Given the description of an element on the screen output the (x, y) to click on. 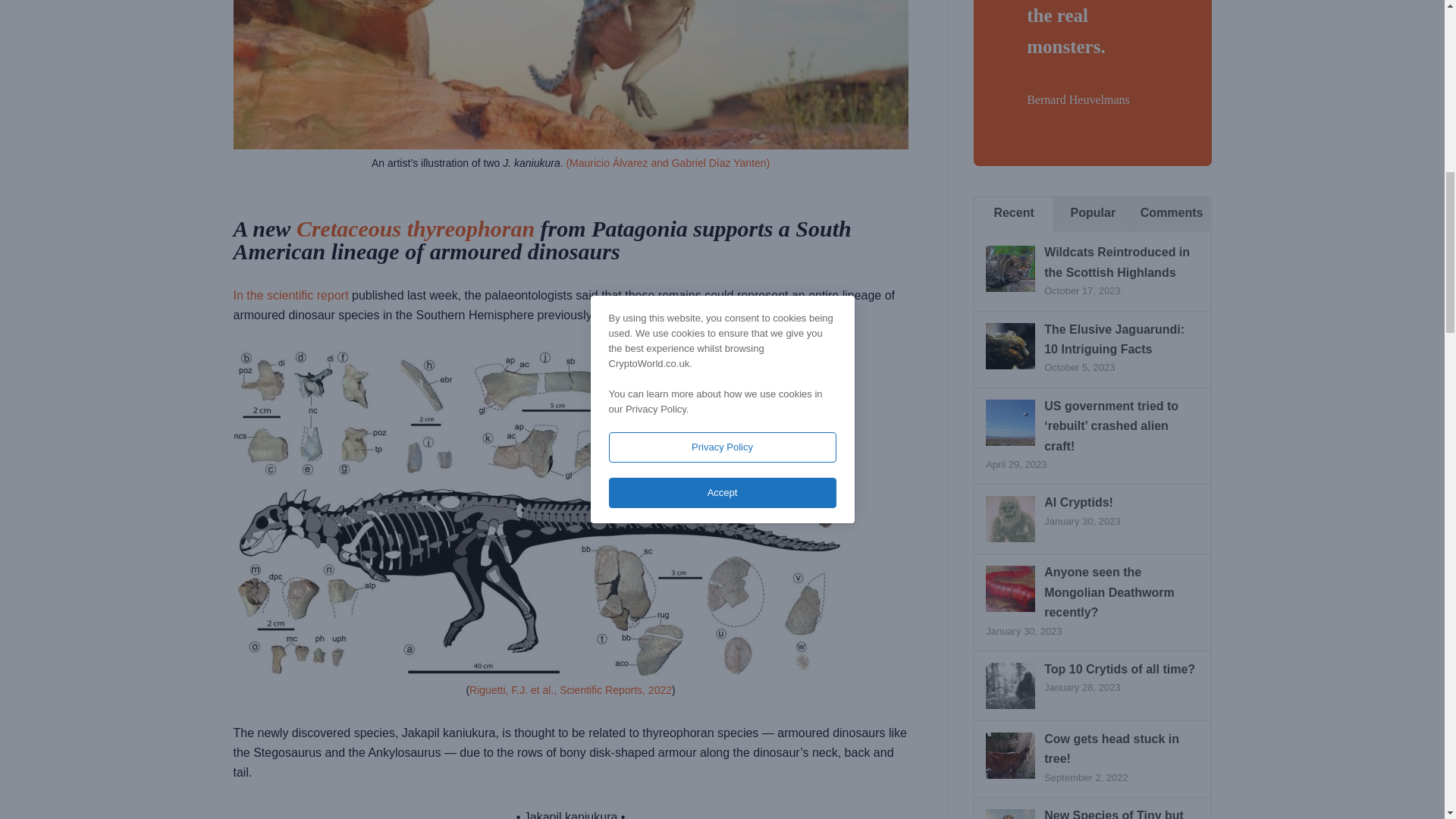
Wildcats Reintroduced in the Scottish Highlands (1116, 261)
Wildcats Reintroduced in the Scottish Highlands (1010, 269)
The Elusive Jaguarundi: 10 Intriguing Facts (1114, 338)
The Elusive Jaguarundi: 10 Intriguing Facts (1010, 345)
